Given the description of an element on the screen output the (x, y) to click on. 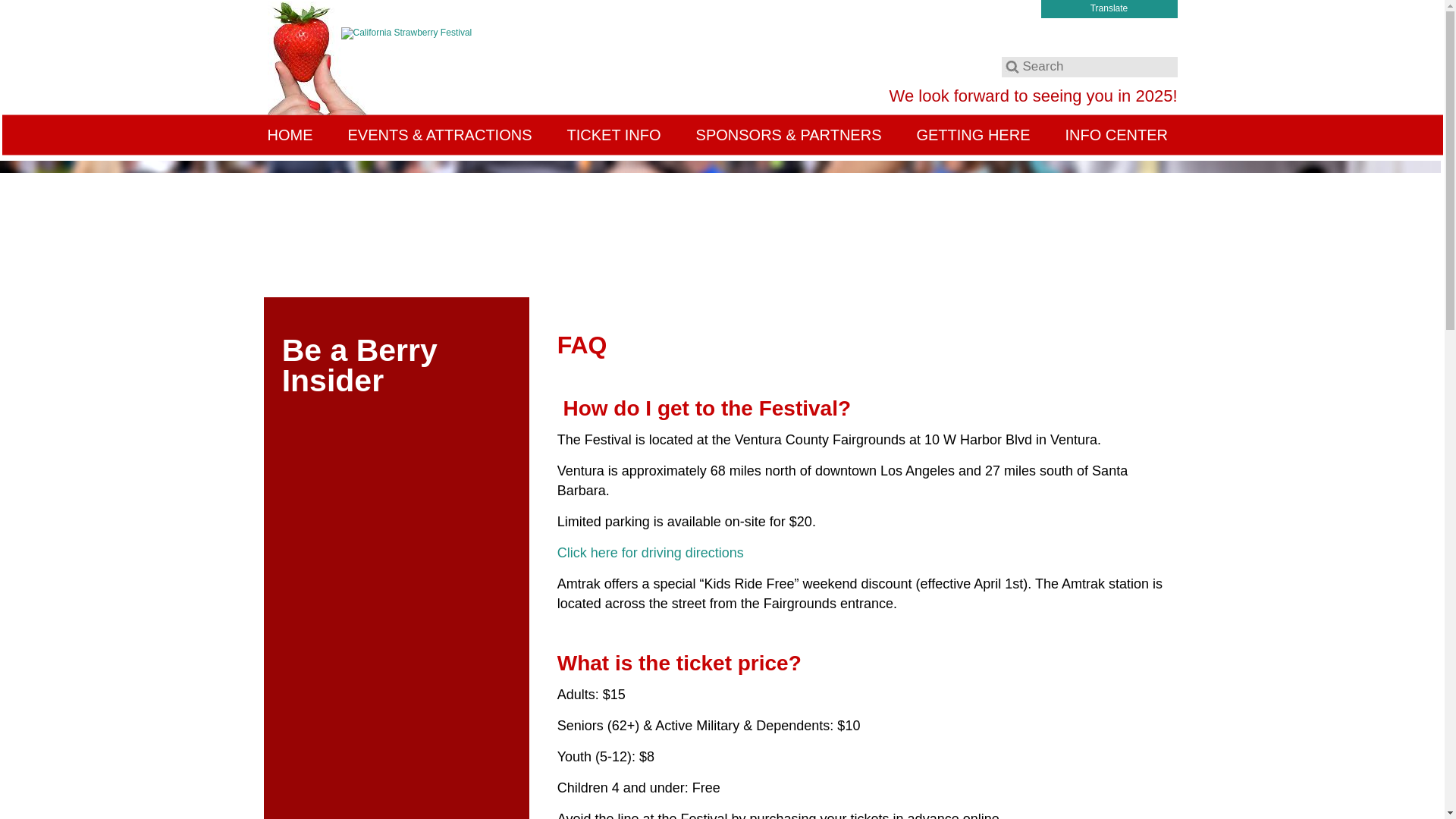
HOME (298, 134)
TICKET INFO (613, 134)
Translate (1108, 8)
INFO CENTER (1106, 134)
GETTING HERE (972, 134)
Click here for driving directions (650, 552)
Search (1094, 66)
